Given the description of an element on the screen output the (x, y) to click on. 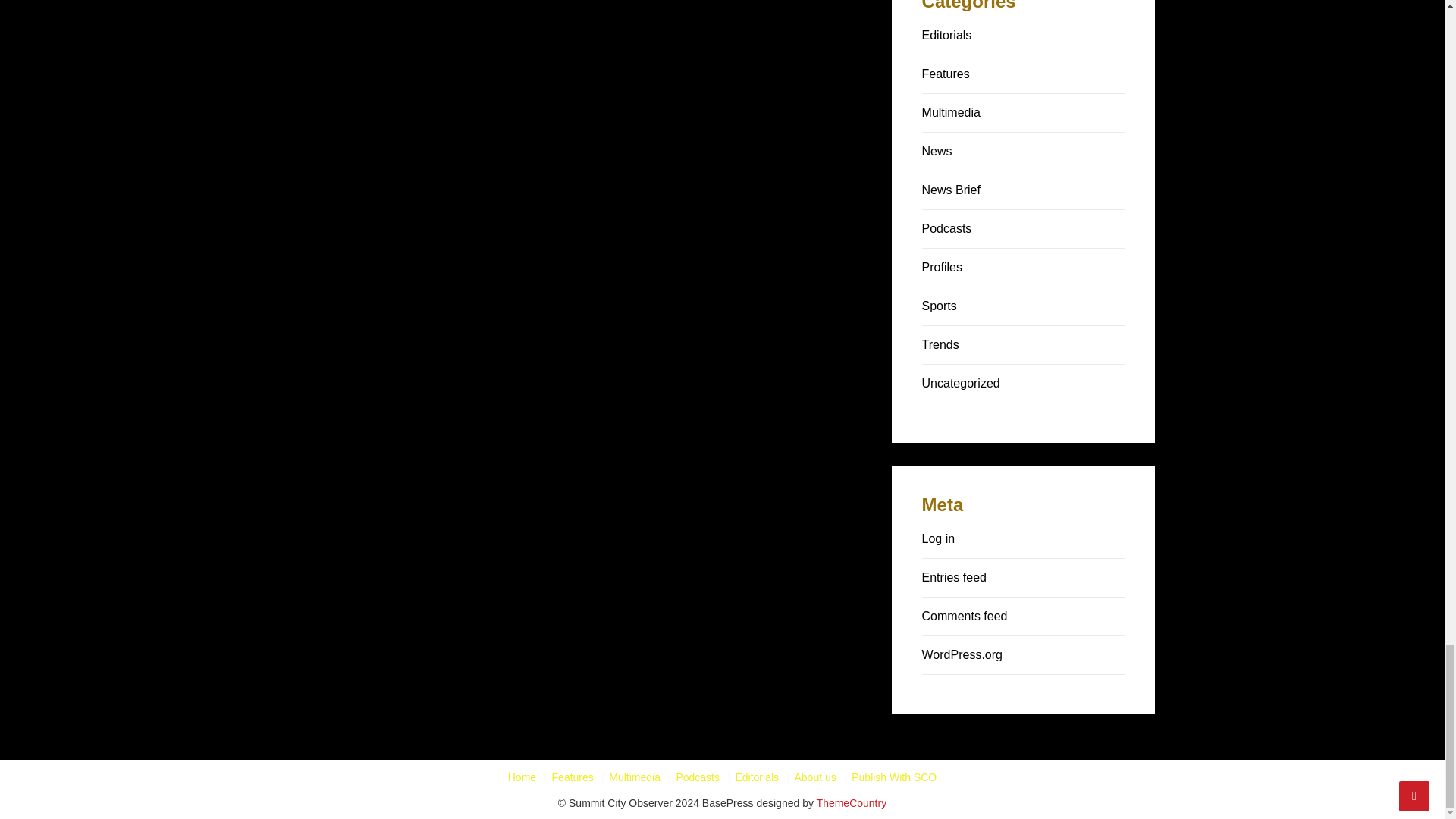
Base - The best free blog theme for WordPress (851, 802)
